Given the description of an element on the screen output the (x, y) to click on. 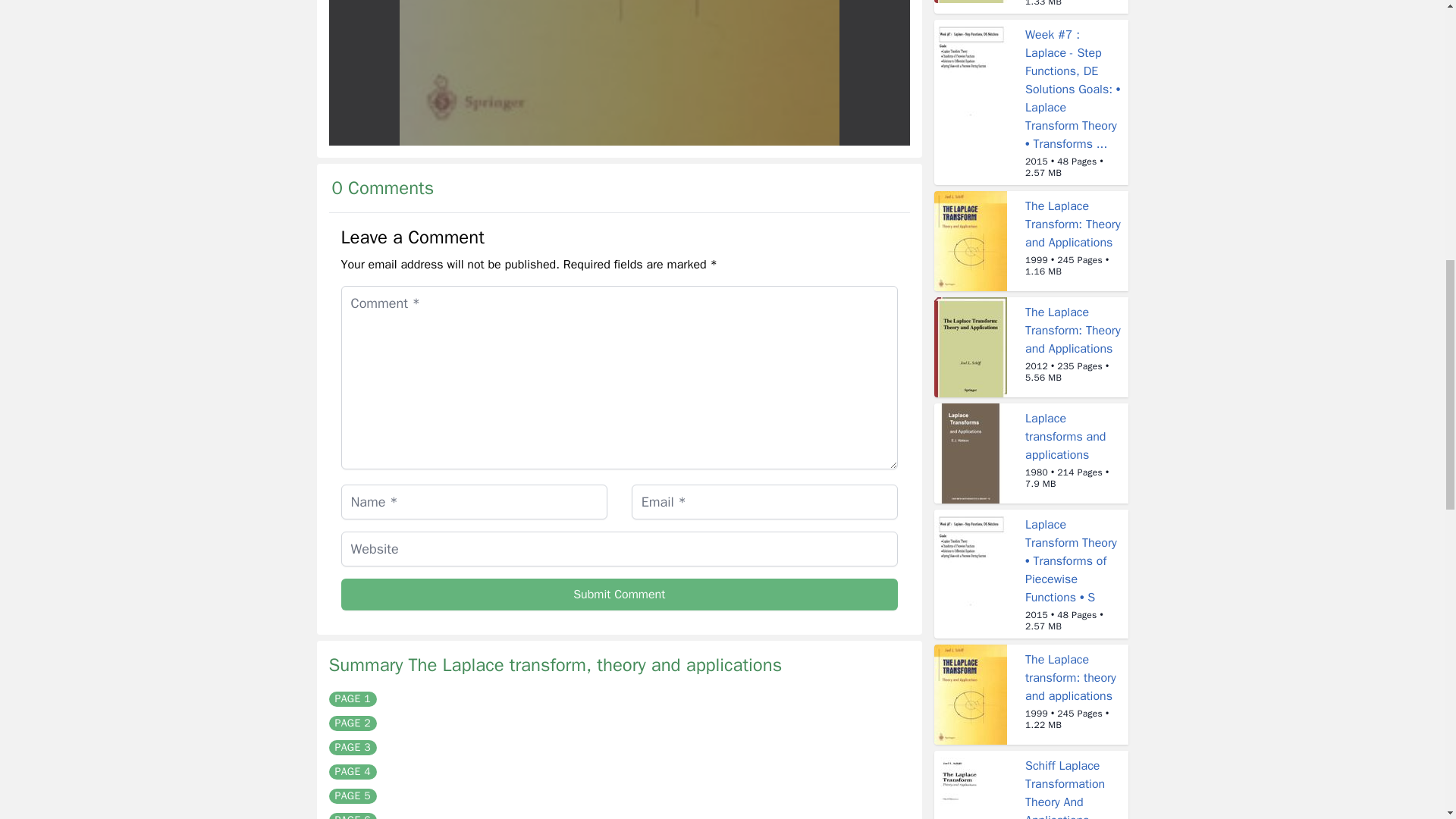
The Laplace transform: theory and applications  (1070, 677)
Laplace transforms and applications (1065, 436)
Schiff Laplace Transformation Theory And Applications (1065, 788)
The Laplace Transform: Theory and Applications  (1073, 224)
The Laplace Transform: Theory and Applications (1073, 330)
